Given the description of an element on the screen output the (x, y) to click on. 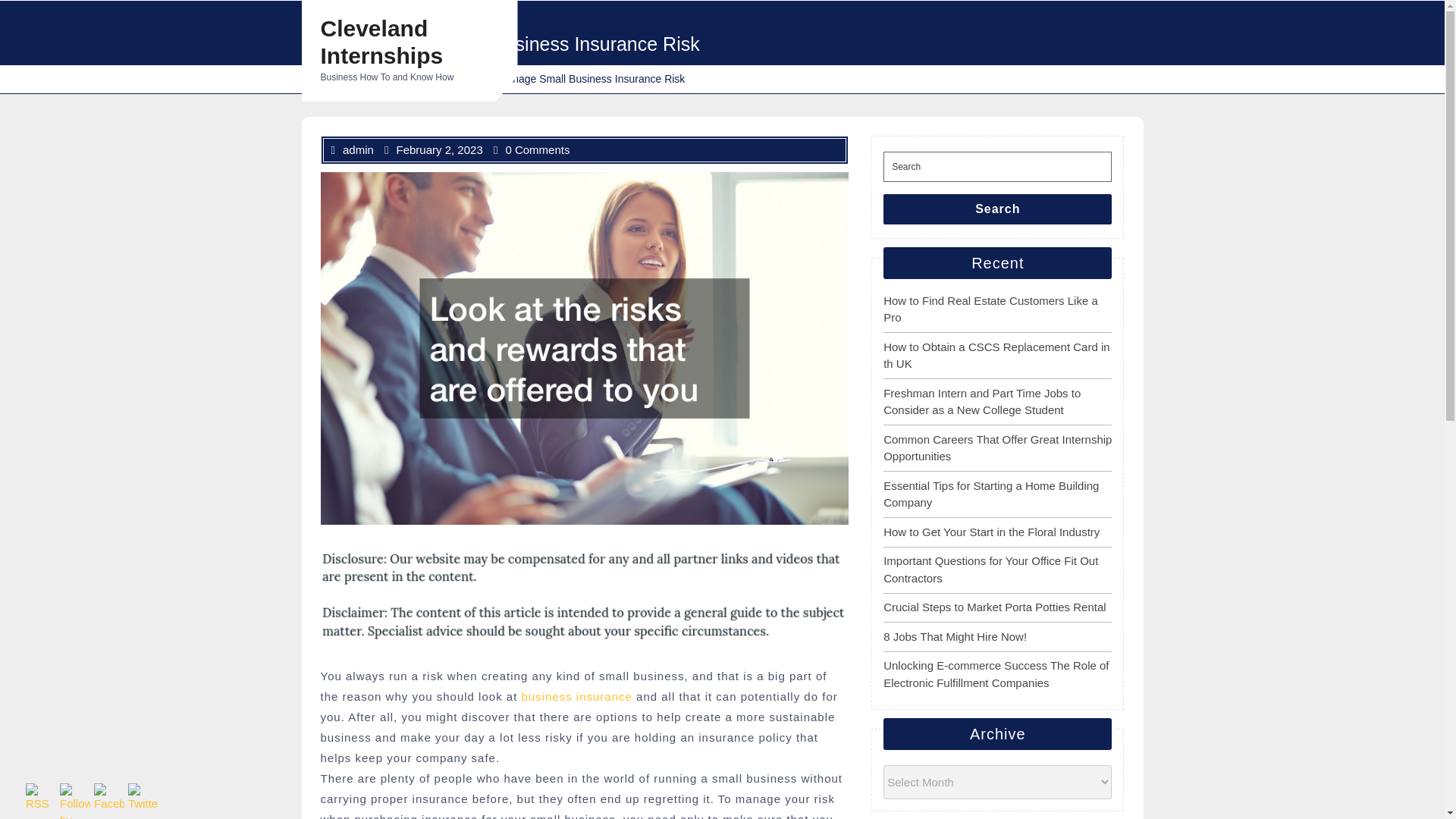
Cleveland Internships (352, 78)
How to Find Real Estate Customers Like a Pro (990, 309)
Facebook (108, 797)
Important Questions for Your Office Fit Out Contractors (990, 569)
Search (997, 209)
8 Jobs That Might Hire Now! (954, 635)
Twitter (143, 797)
Cleveland Internships (381, 41)
Home (432, 78)
